Given the description of an element on the screen output the (x, y) to click on. 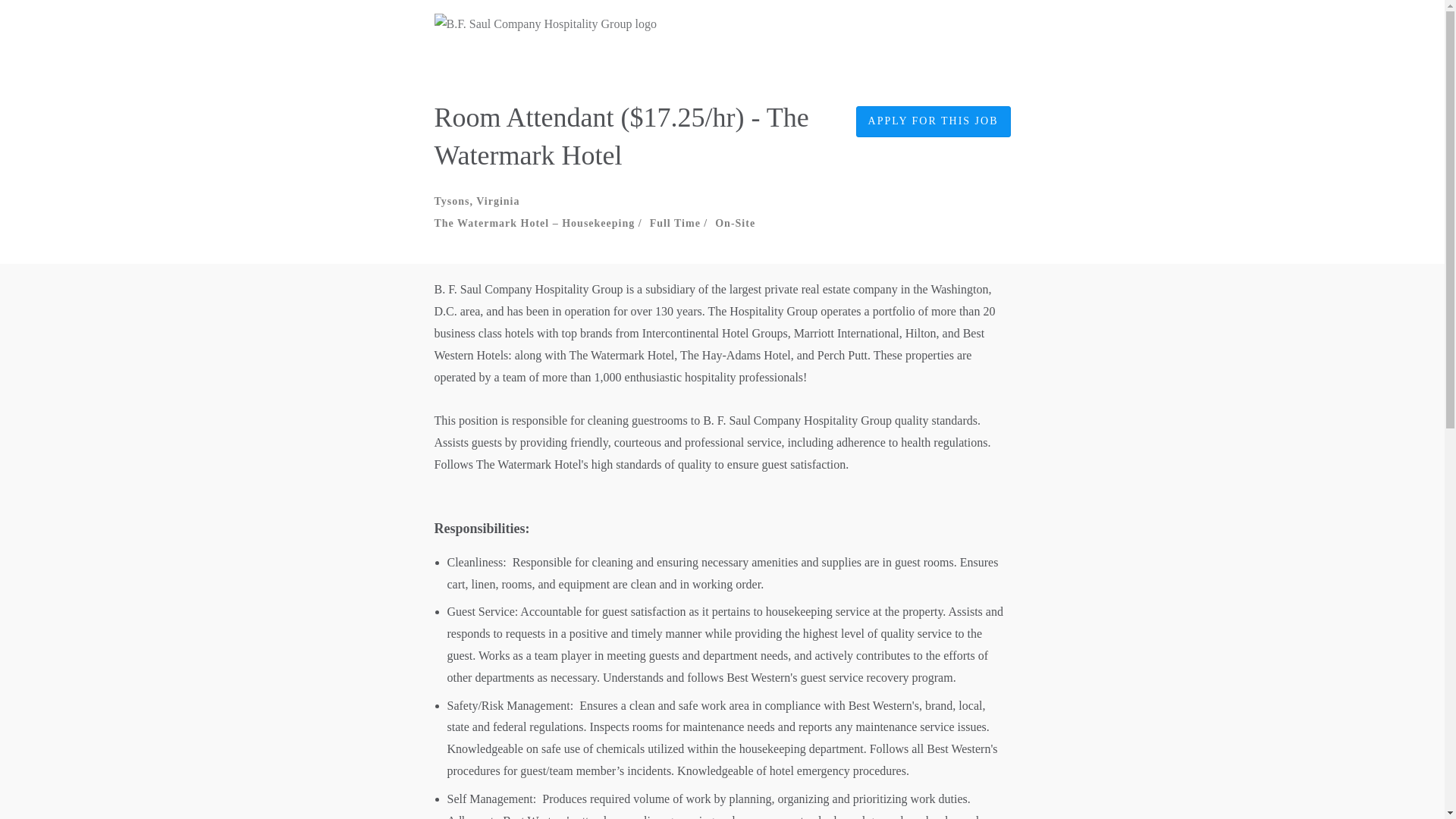
APPLY FOR THIS JOB (933, 121)
